Given the description of an element on the screen output the (x, y) to click on. 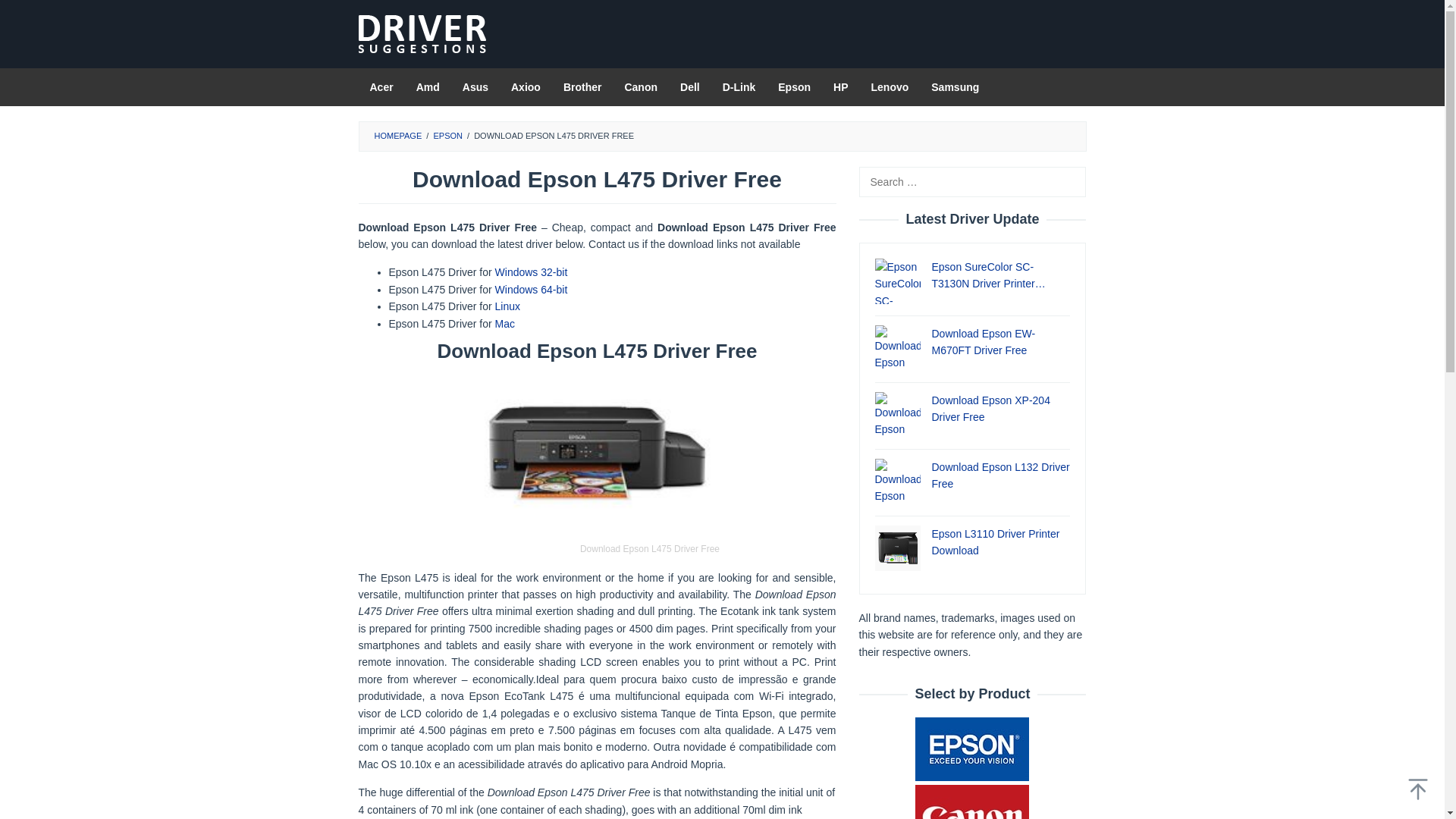
Epson L475 driver (531, 289)
Windows 32-bit (531, 272)
EPSON (447, 135)
Brother (581, 86)
Epson L475 driver (505, 323)
Dell (689, 86)
HOMEPAGE (398, 135)
Epson L475 driver (507, 306)
HP (840, 86)
Linux (507, 306)
